Given the description of an element on the screen output the (x, y) to click on. 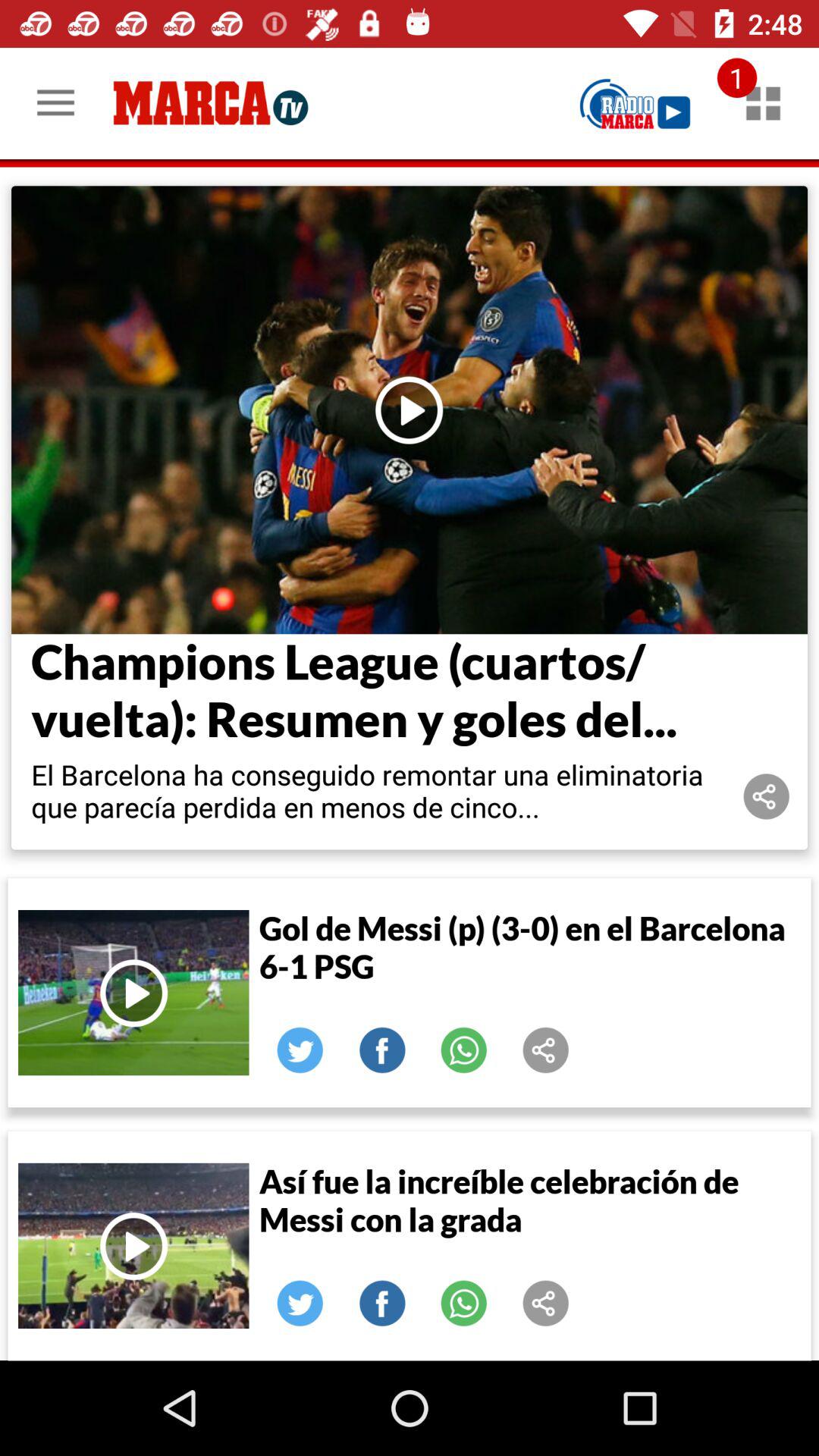
share to facebook (382, 1050)
